Given the description of an element on the screen output the (x, y) to click on. 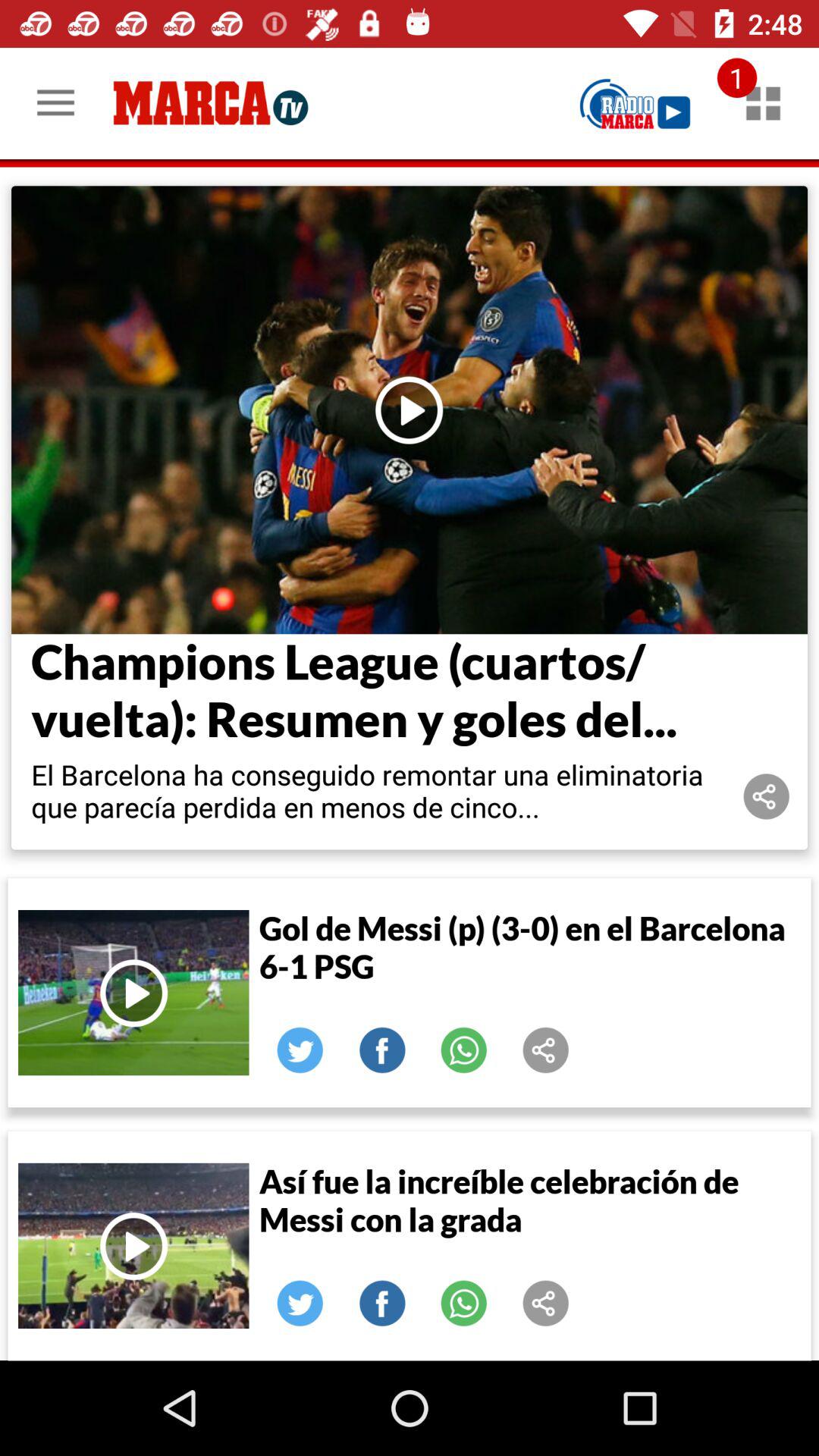
share to facebook (382, 1050)
